Given the description of an element on the screen output the (x, y) to click on. 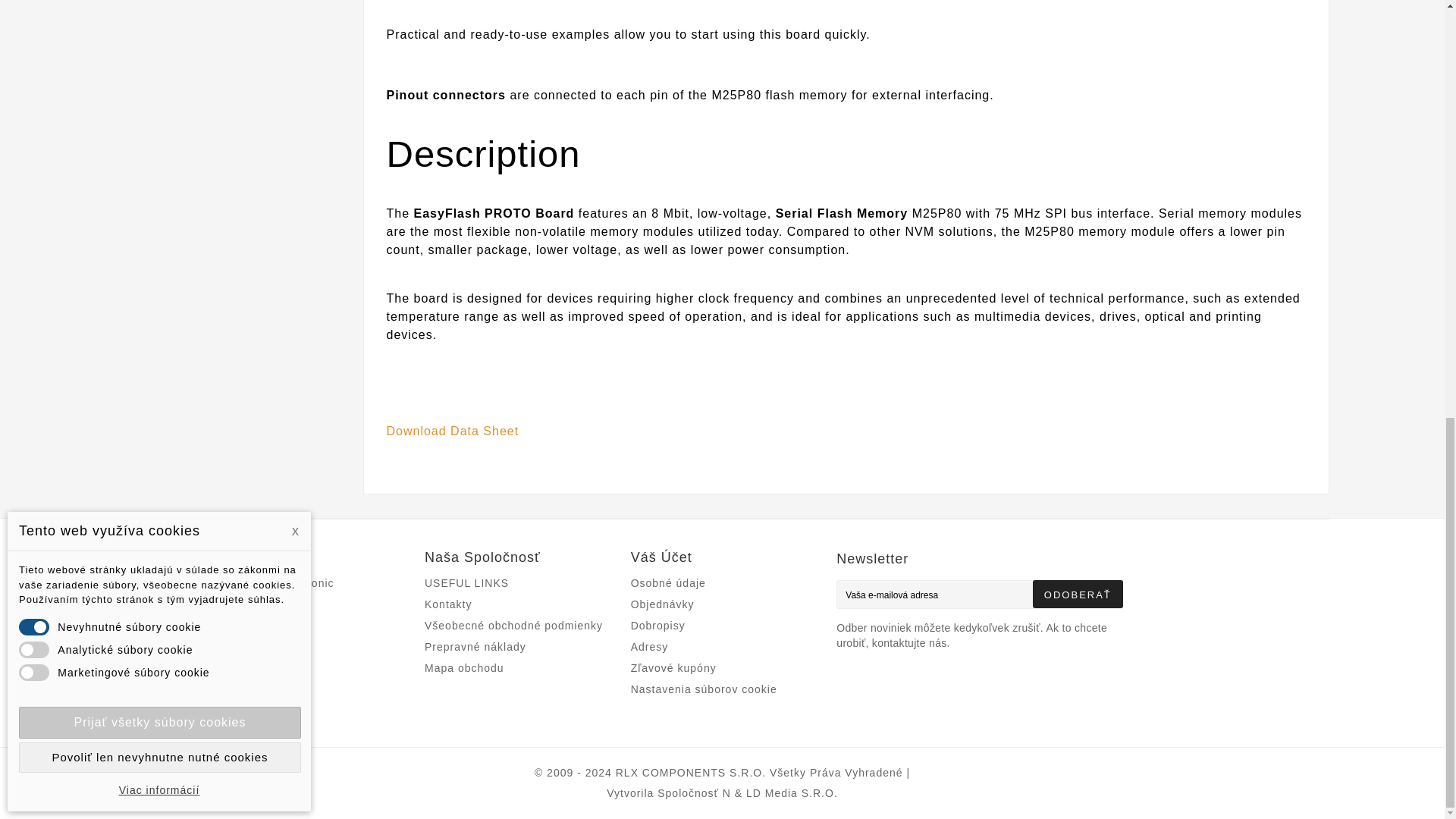
Otvorene Pondelok-Piatok 8:30 - 14:30 (464, 667)
Kontakty (448, 604)
USEFUL LINKS (466, 582)
